Given the description of an element on the screen output the (x, y) to click on. 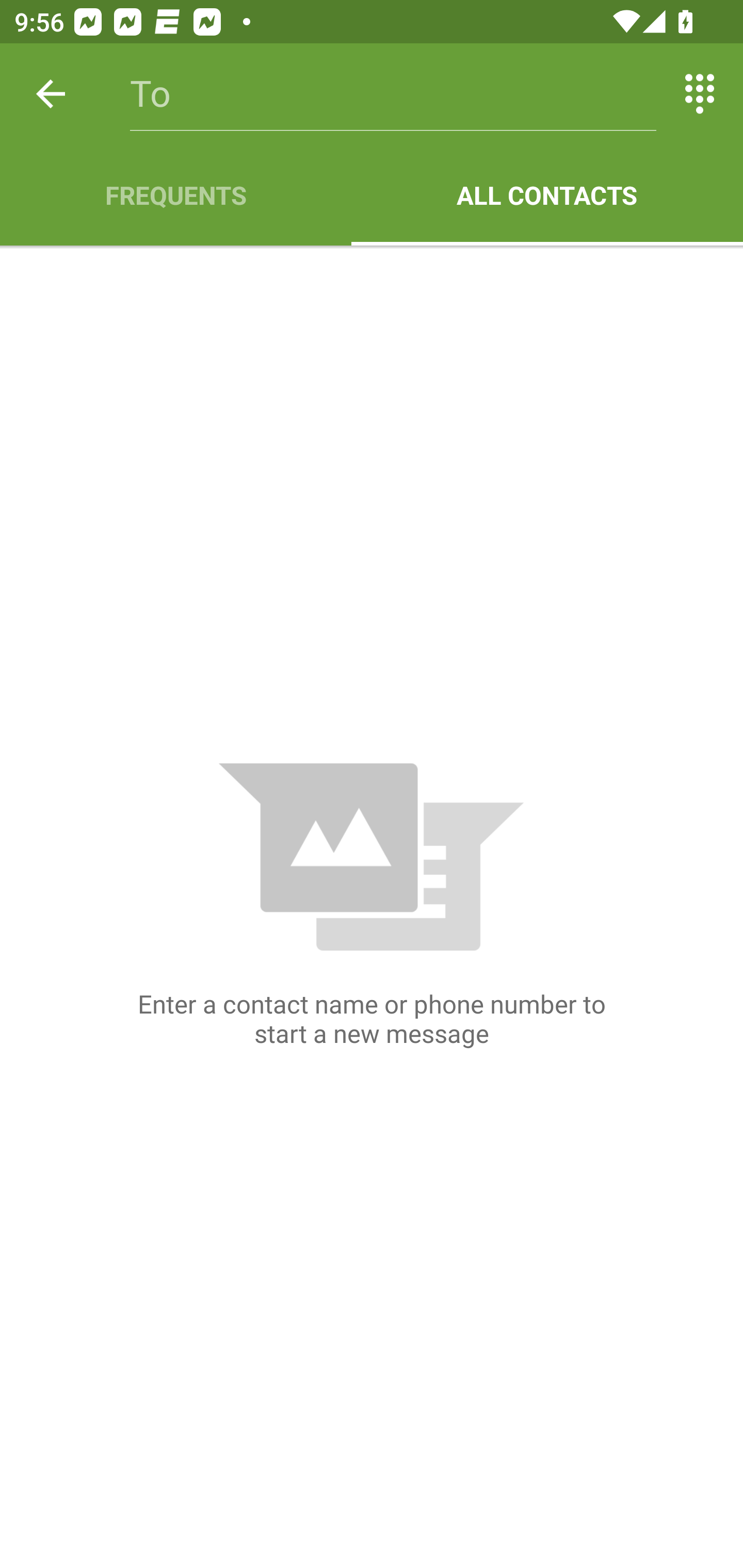
Back (50, 93)
Switch between entering text and numbers (699, 93)
To (393, 93)
FREQUENTS (175, 195)
ALL CONTACTS (547, 195)
